Given the description of an element on the screen output the (x, y) to click on. 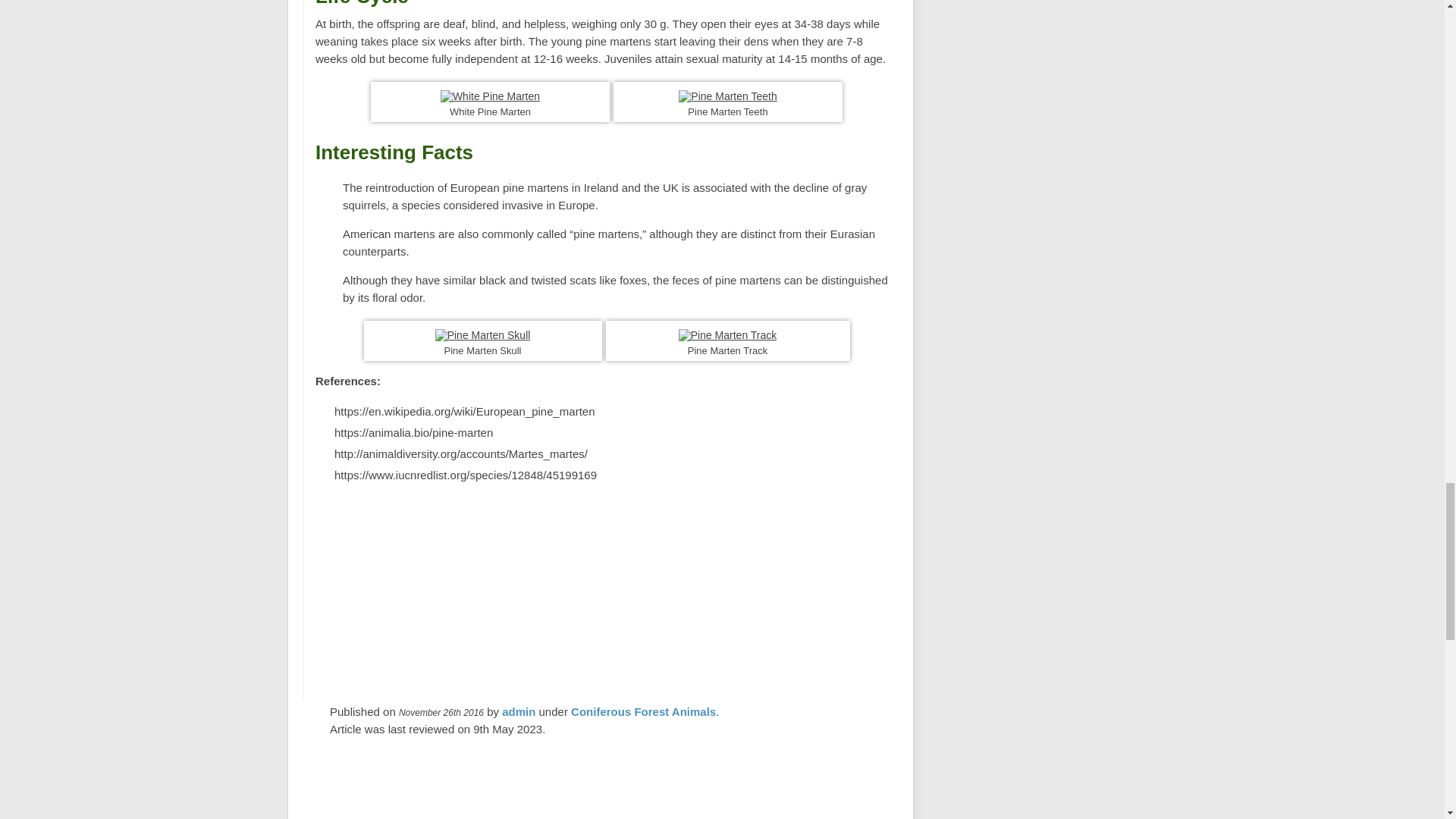
American martens (388, 233)
admin (518, 711)
Coniferous Forest Animals (643, 709)
Posts by admin (518, 711)
